Given the description of an element on the screen output the (x, y) to click on. 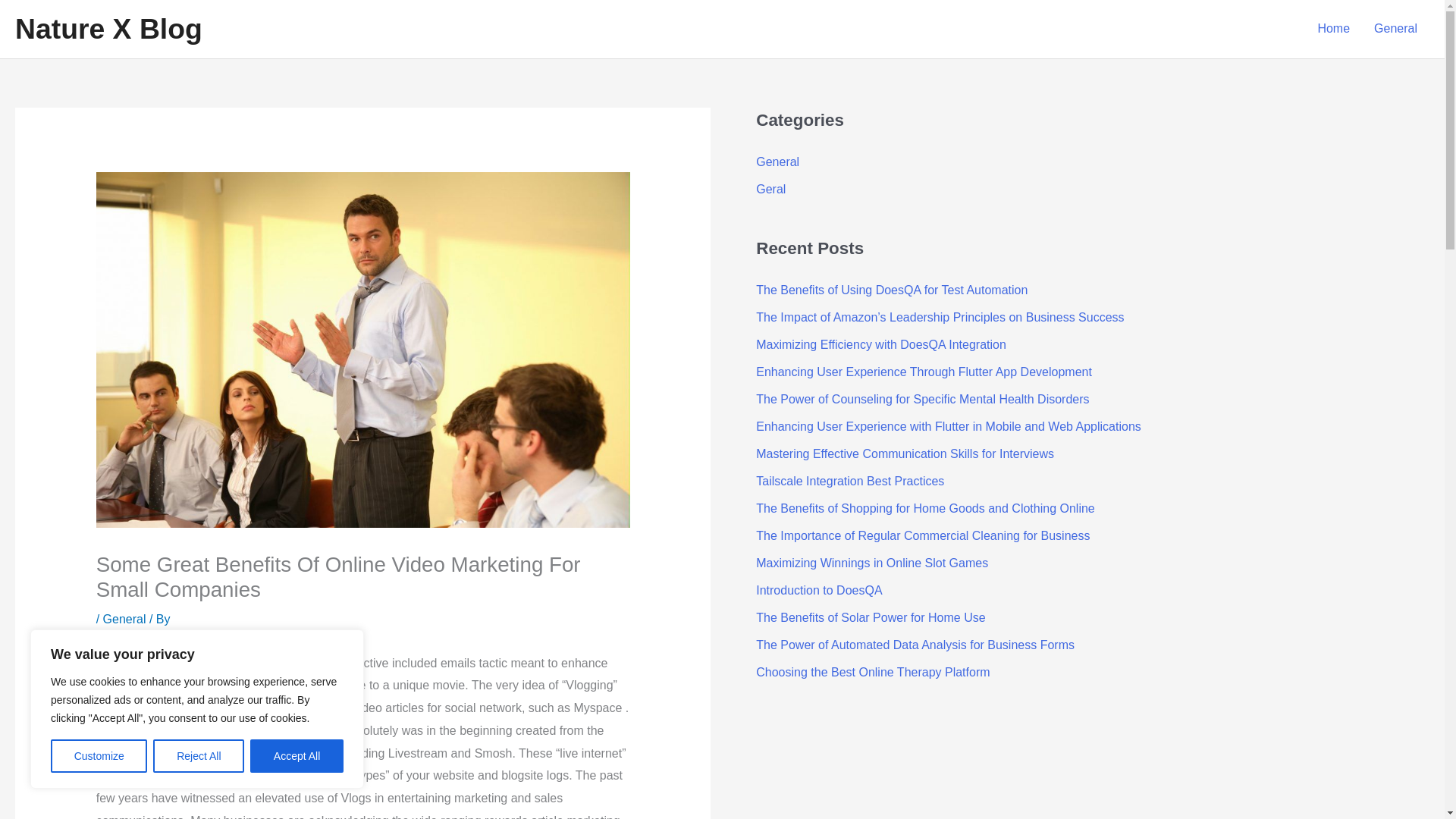
Accept All (296, 756)
Home (1332, 28)
General (777, 161)
Geral (770, 188)
General (125, 618)
video tutorials (133, 775)
Nature X Blog (108, 29)
General (1395, 28)
The Benefits of Using DoesQA for Test Automation (891, 289)
Customize (98, 756)
Reject All (198, 756)
